Given the description of an element on the screen output the (x, y) to click on. 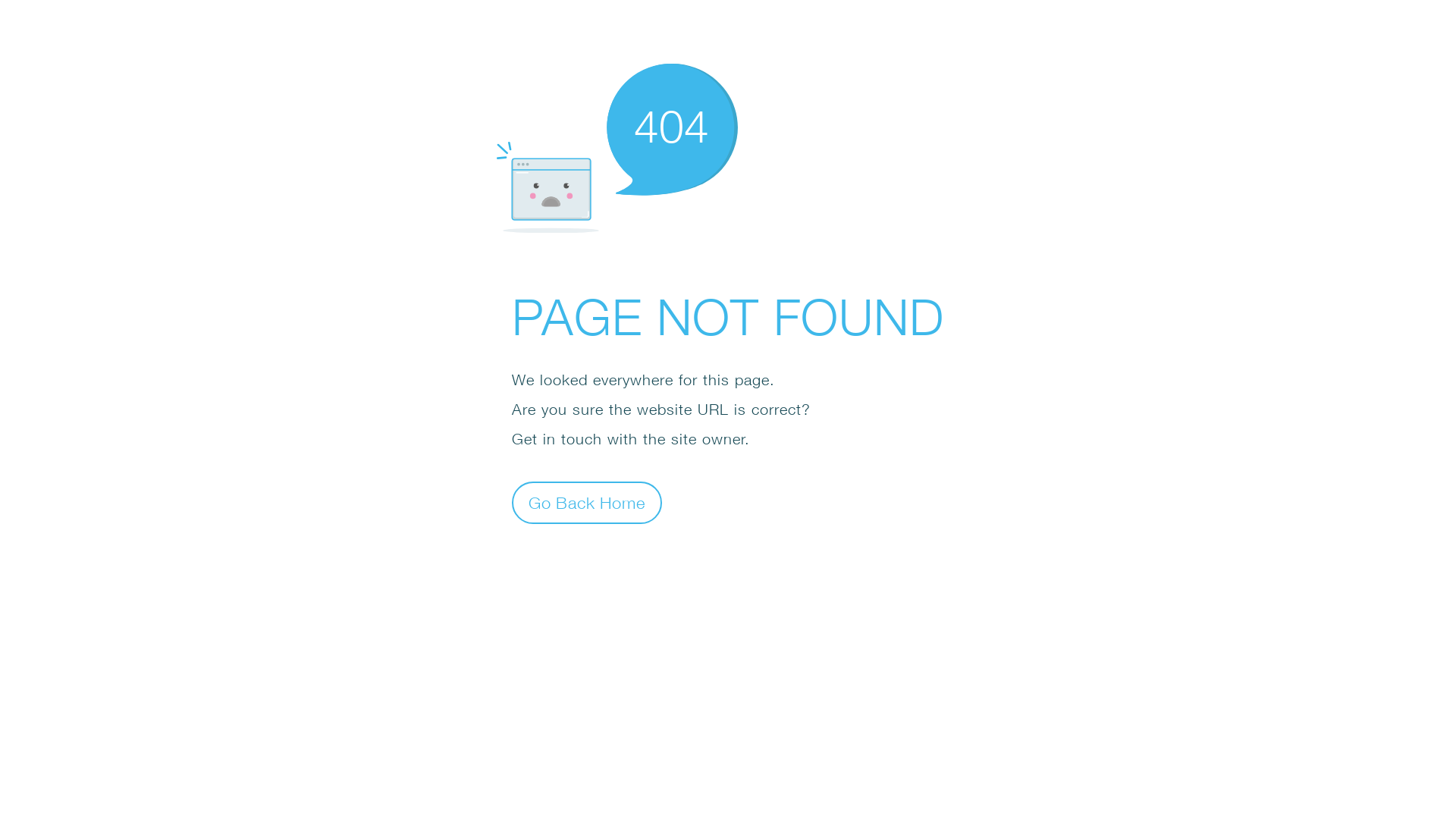
Go Back Home Element type: text (586, 502)
